Given the description of an element on the screen output the (x, y) to click on. 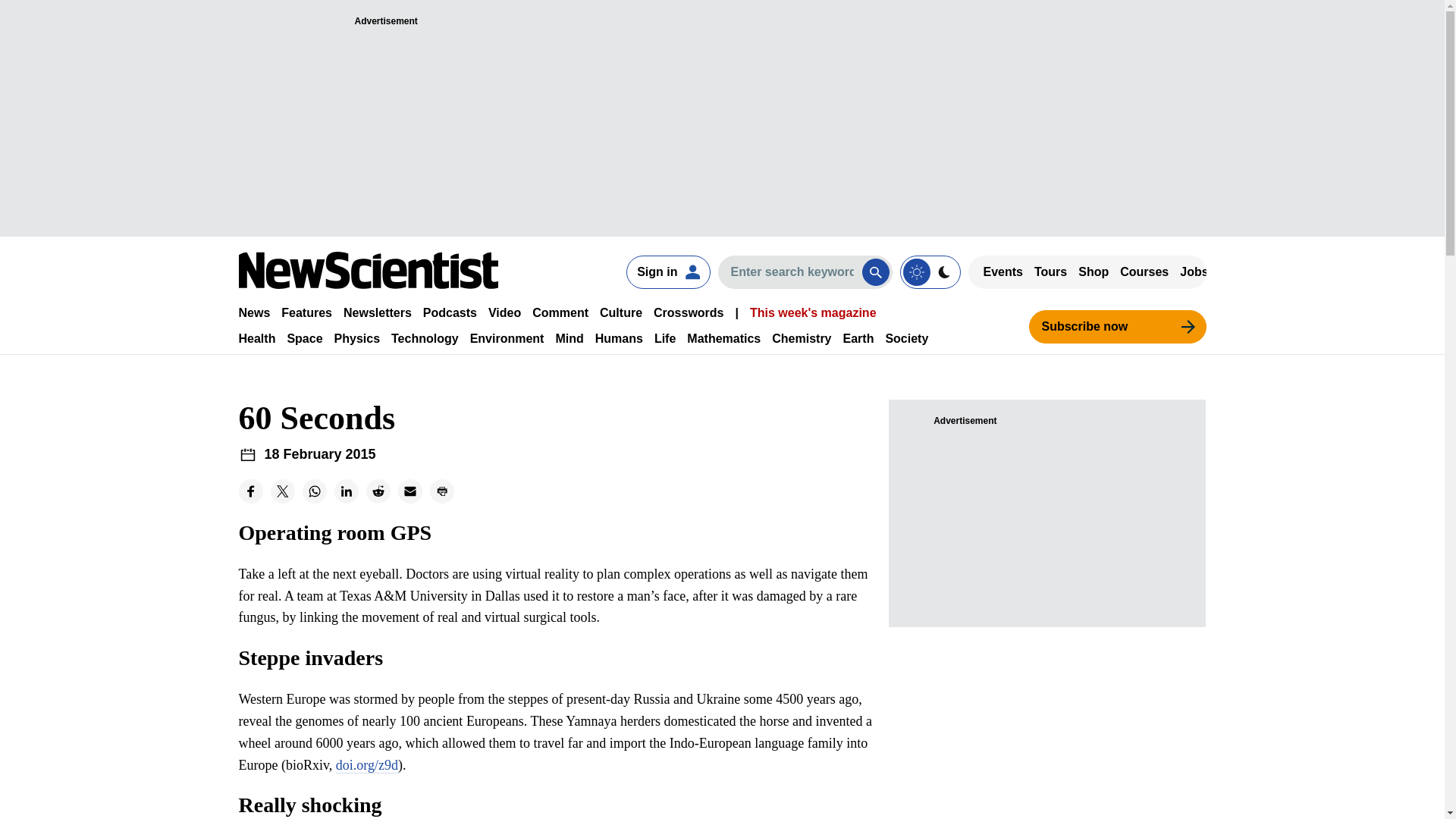
Tours (1050, 272)
Subscribe now (1116, 326)
Events (1002, 272)
Podcasts (450, 313)
Society (906, 338)
This week's magazine (812, 313)
Crosswords (688, 313)
Features (306, 313)
Health (256, 338)
Link to the homepage (367, 270)
Earth (859, 338)
Sign in (668, 272)
Courses (1144, 272)
Space (303, 338)
on (929, 272)
